Given the description of an element on the screen output the (x, y) to click on. 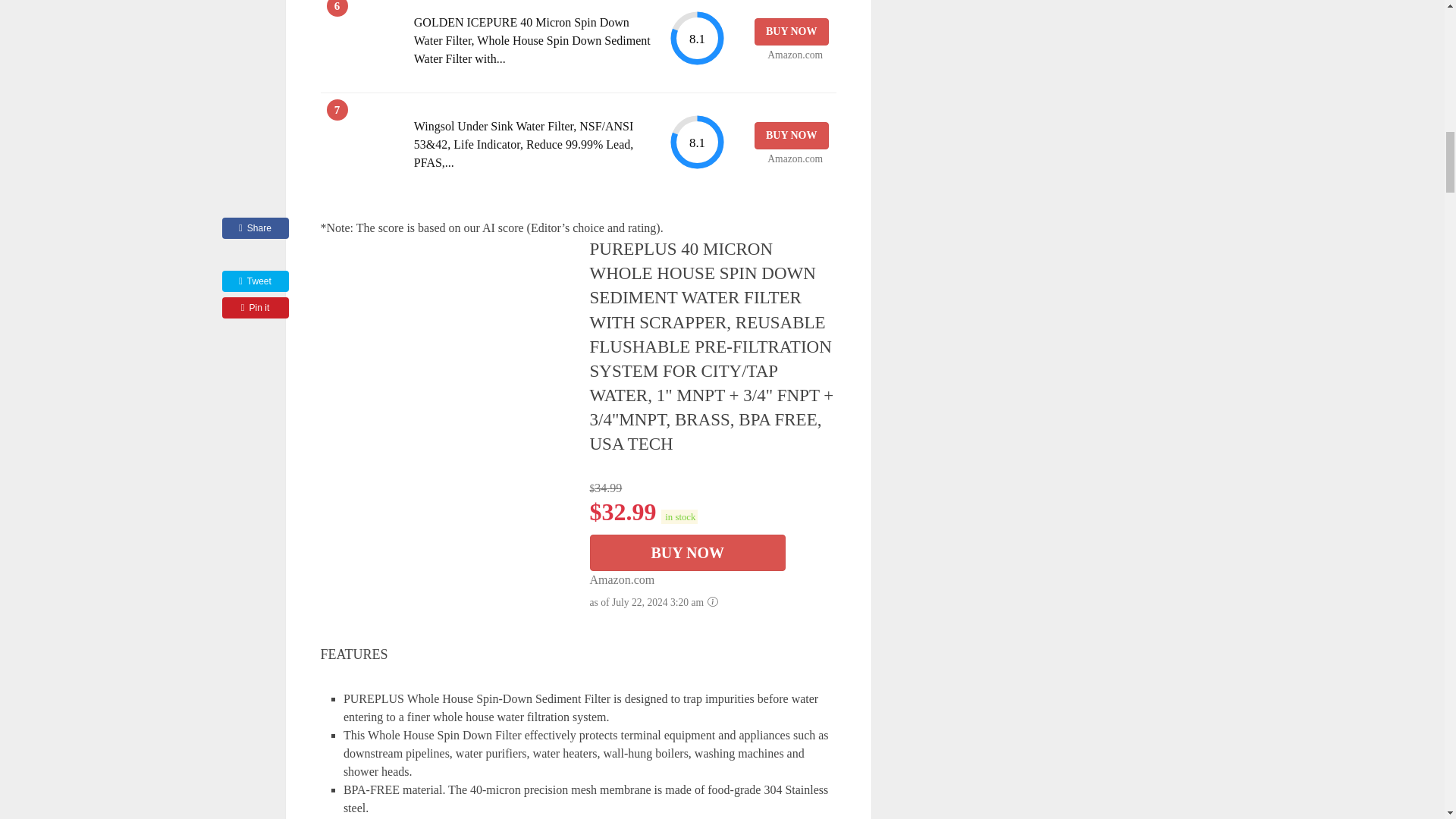
8.1 (696, 141)
Last updated on July 22, 2024 3:20 am (679, 516)
8.1 (696, 37)
